Given the description of an element on the screen output the (x, y) to click on. 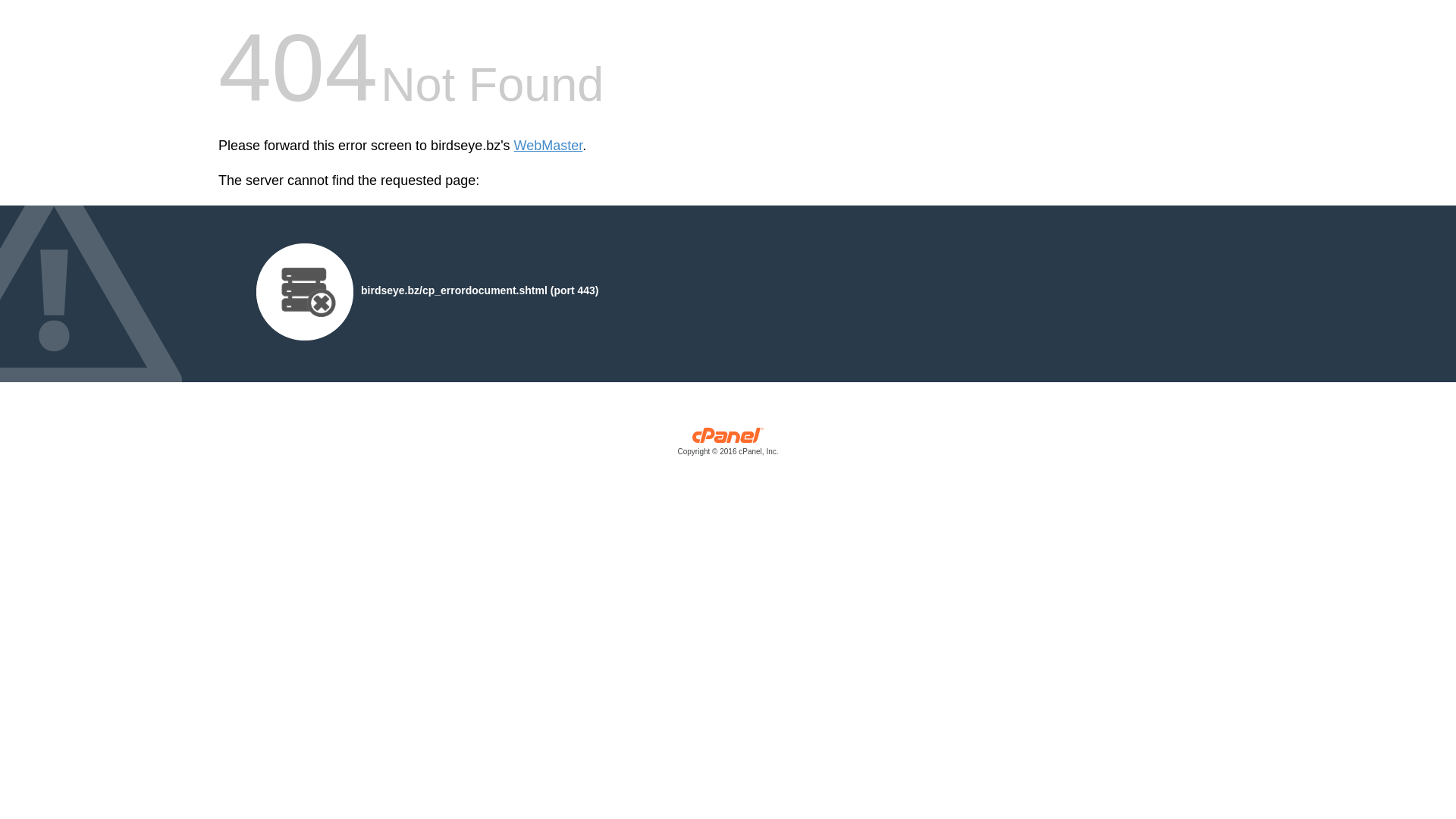
WebMaster Element type: text (548, 145)
